Given the description of an element on the screen output the (x, y) to click on. 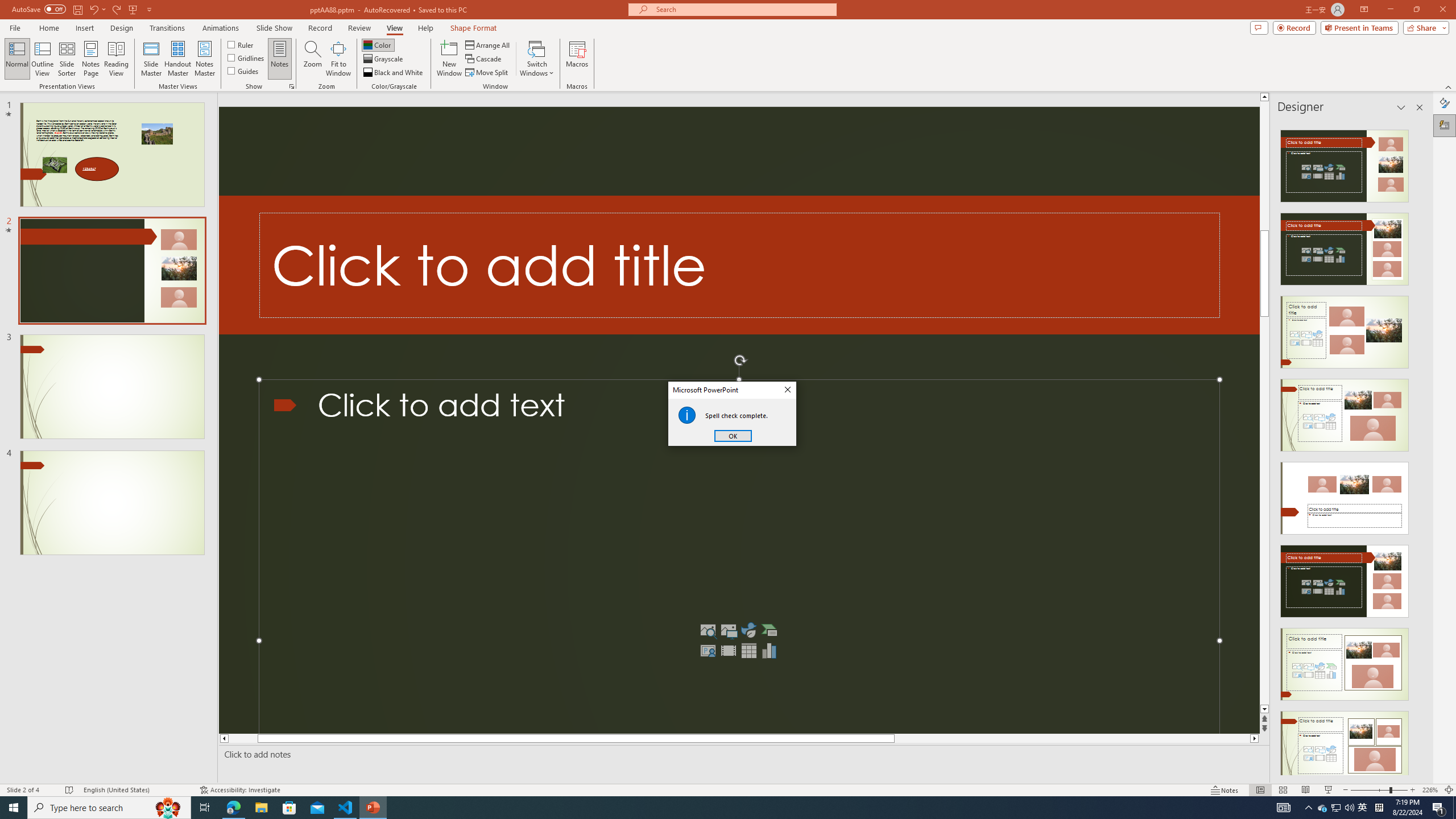
Slide Master (151, 58)
New Window (449, 58)
